Given the description of an element on the screen output the (x, y) to click on. 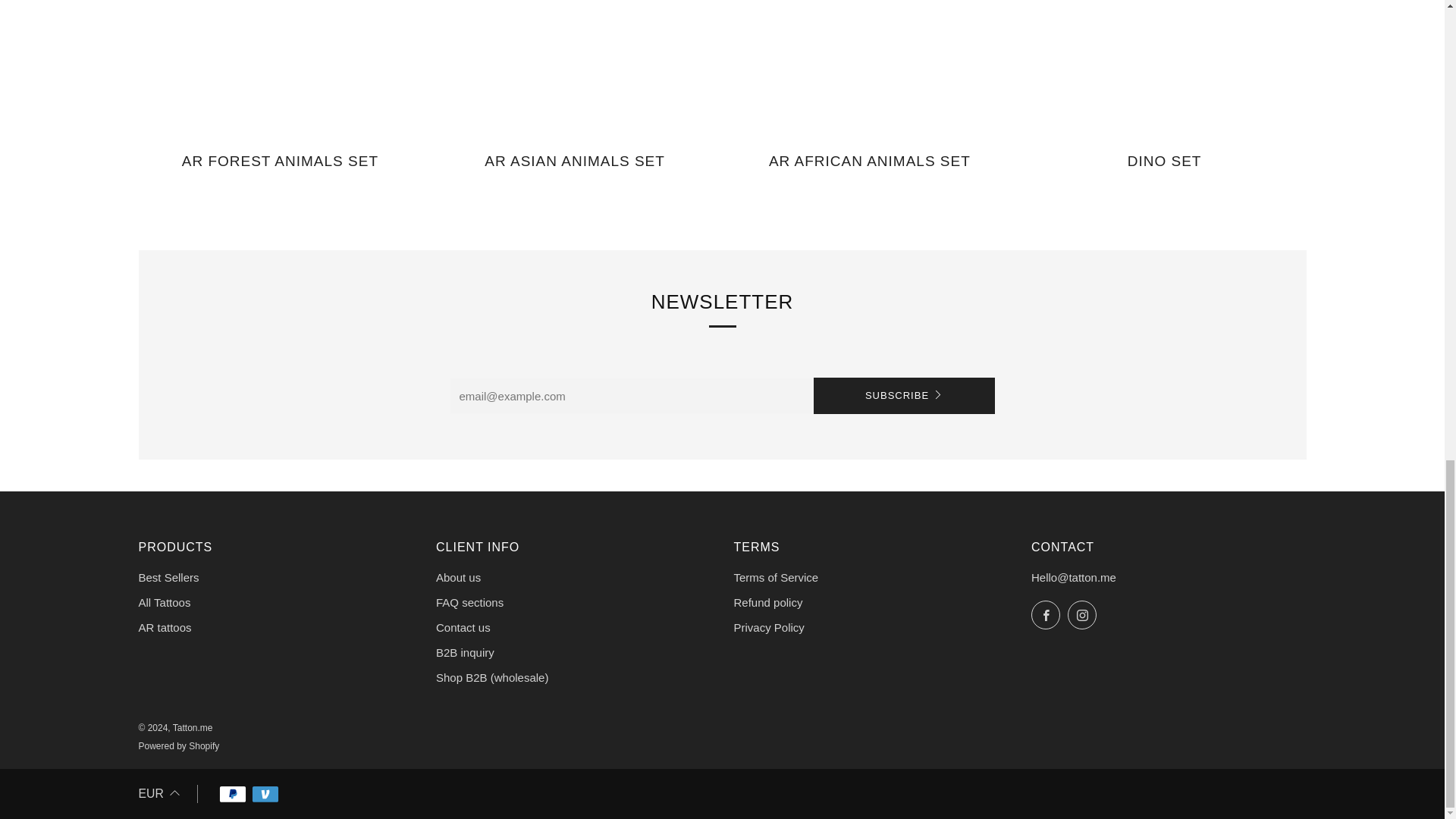
AR African animals set (869, 169)
AR Asian animals set (574, 169)
AR Forest animals set (280, 169)
Dino set (1164, 169)
